Given the description of an element on the screen output the (x, y) to click on. 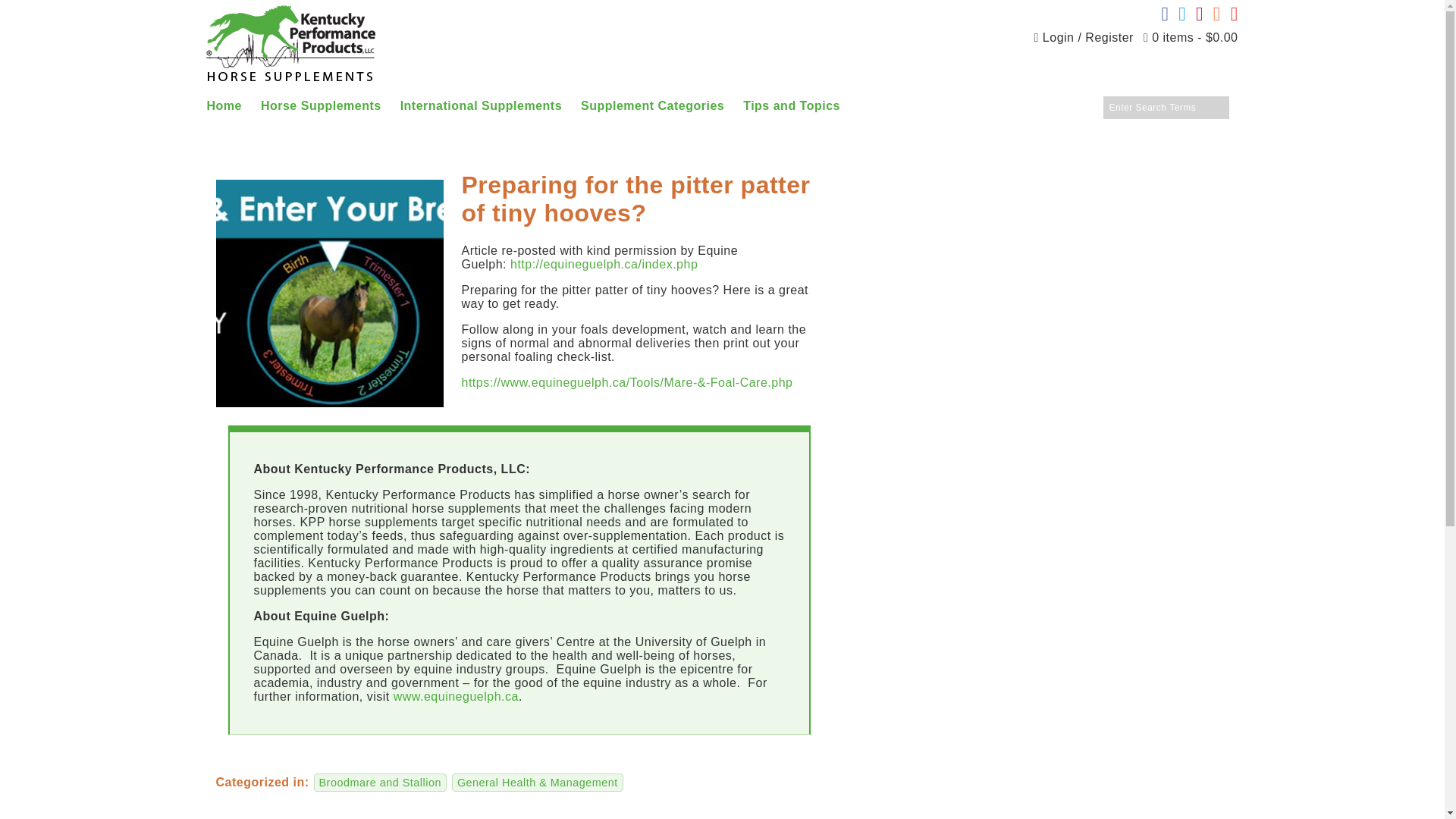
International Supplements (480, 107)
Broodmare and Stallion (380, 782)
Horse Supplements (320, 107)
Home (223, 107)
Supplement Categories (652, 107)
Tips and Topics (791, 107)
Cart (1190, 37)
www.equineguelph.ca (455, 696)
